Given the description of an element on the screen output the (x, y) to click on. 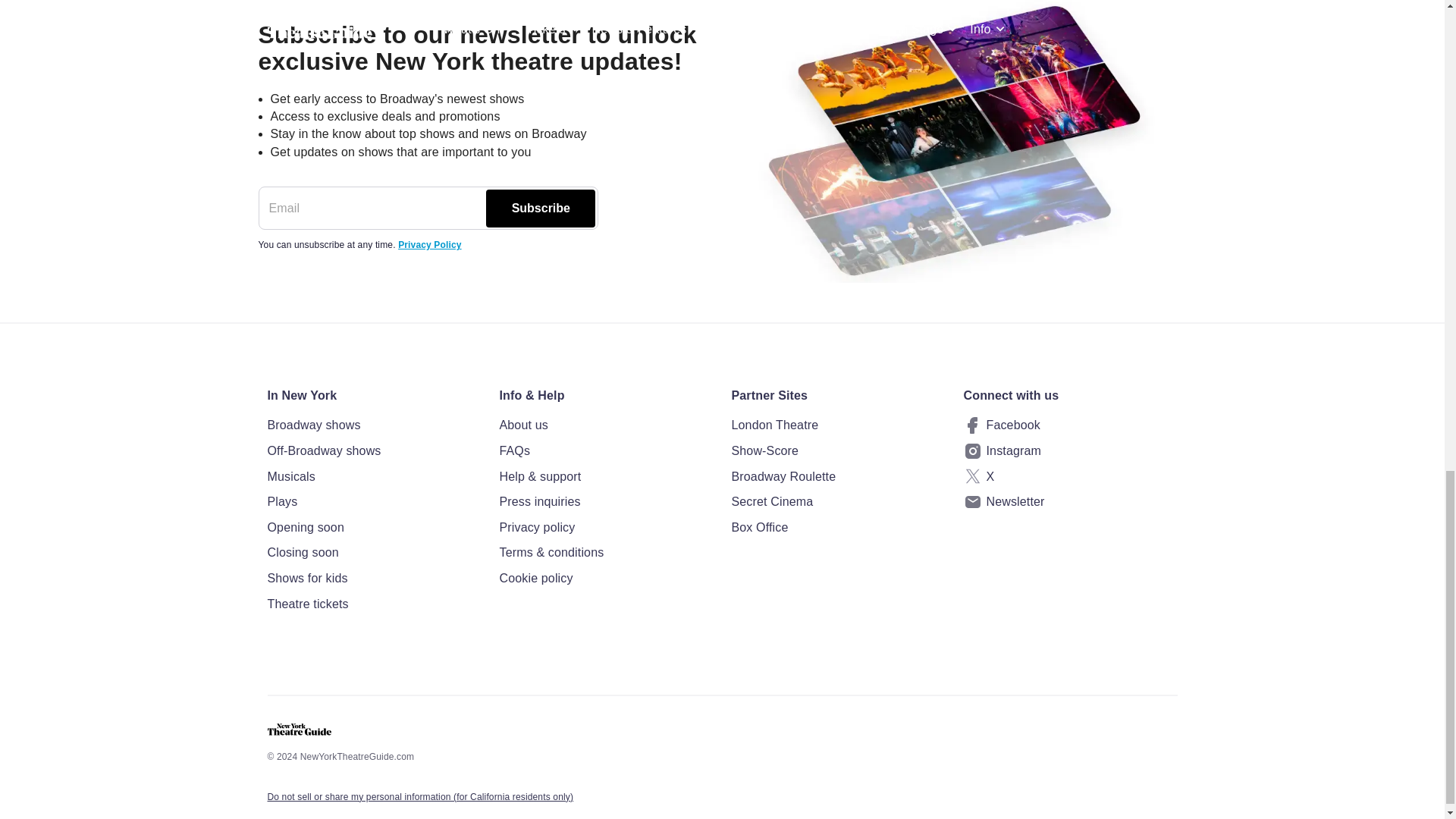
Cookie policy (606, 578)
Secret Cinema (837, 501)
Closing soon (373, 552)
Broadway shows (373, 424)
Theatre tickets (373, 604)
London Theatre (837, 424)
FAQs (606, 451)
About us (606, 424)
Plays (373, 501)
Broadway Roulette (837, 476)
Shows for kids (373, 578)
Off-Broadway shows (373, 451)
Opening soon (373, 527)
Press inquiries (606, 501)
Privacy policy (606, 527)
